Given the description of an element on the screen output the (x, y) to click on. 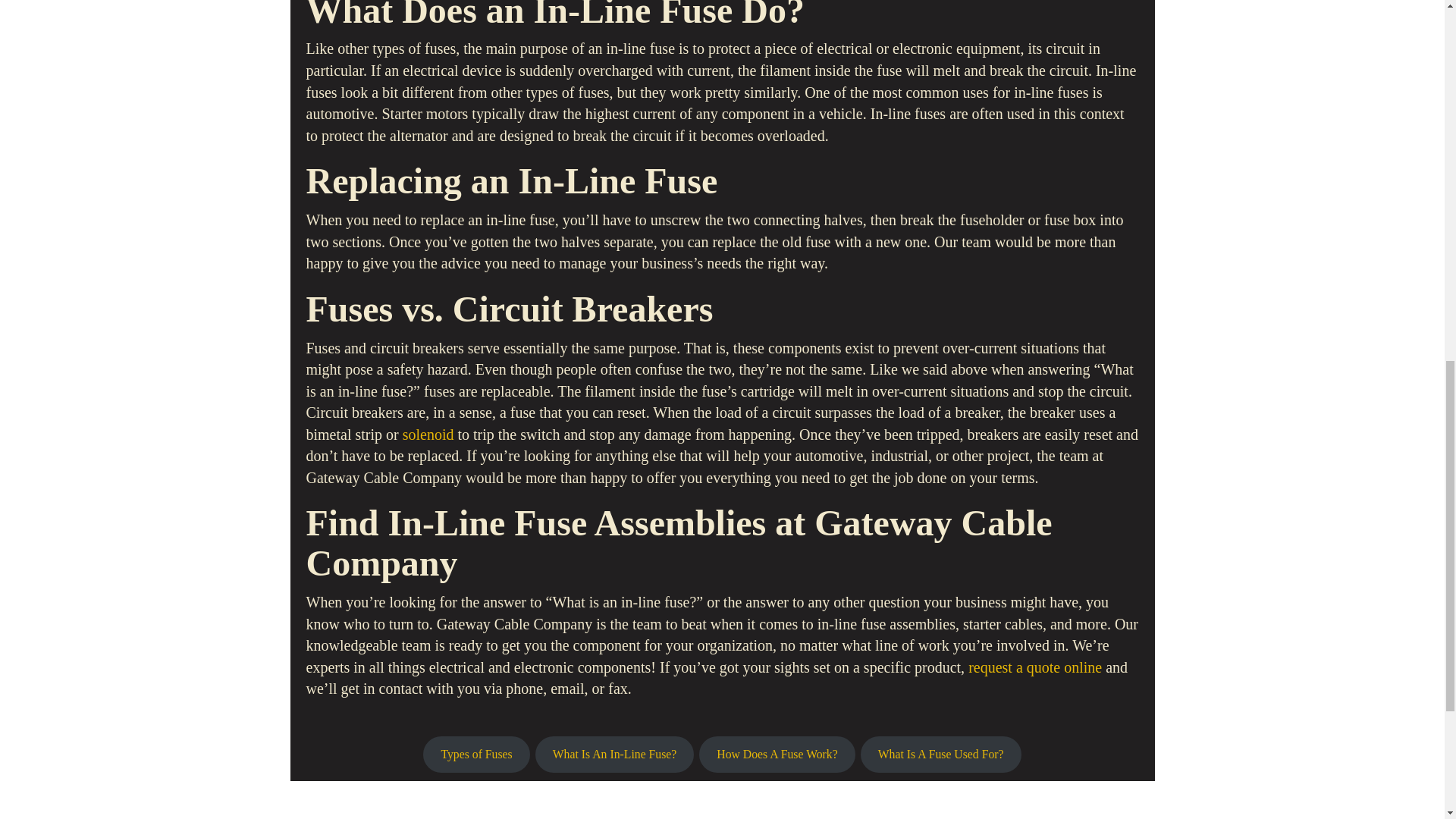
What Is An In-Line Fuse? (614, 754)
request a quote online (1035, 667)
solenoid (428, 434)
Types of Fuses (476, 754)
How Does A Fuse Work? (776, 754)
